Given the description of an element on the screen output the (x, y) to click on. 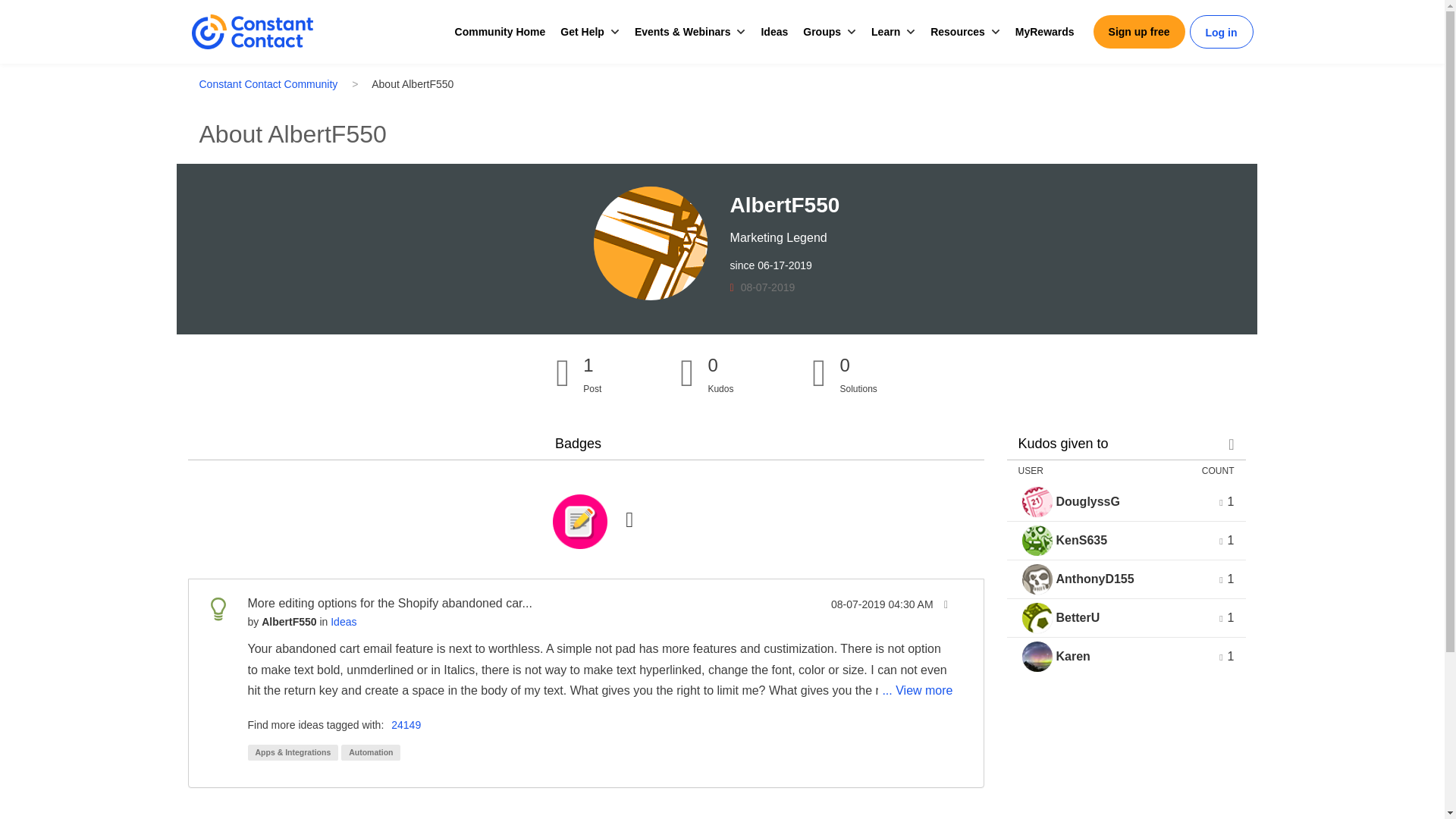
Sign up free (1139, 31)
Ideas (773, 31)
Groups (822, 31)
Community Home (500, 31)
Get Help (582, 31)
Resources (957, 31)
Learn (884, 31)
Log in (1221, 32)
Sign up free (1139, 31)
Log in (1221, 32)
MyRewards (1044, 31)
